Given the description of an element on the screen output the (x, y) to click on. 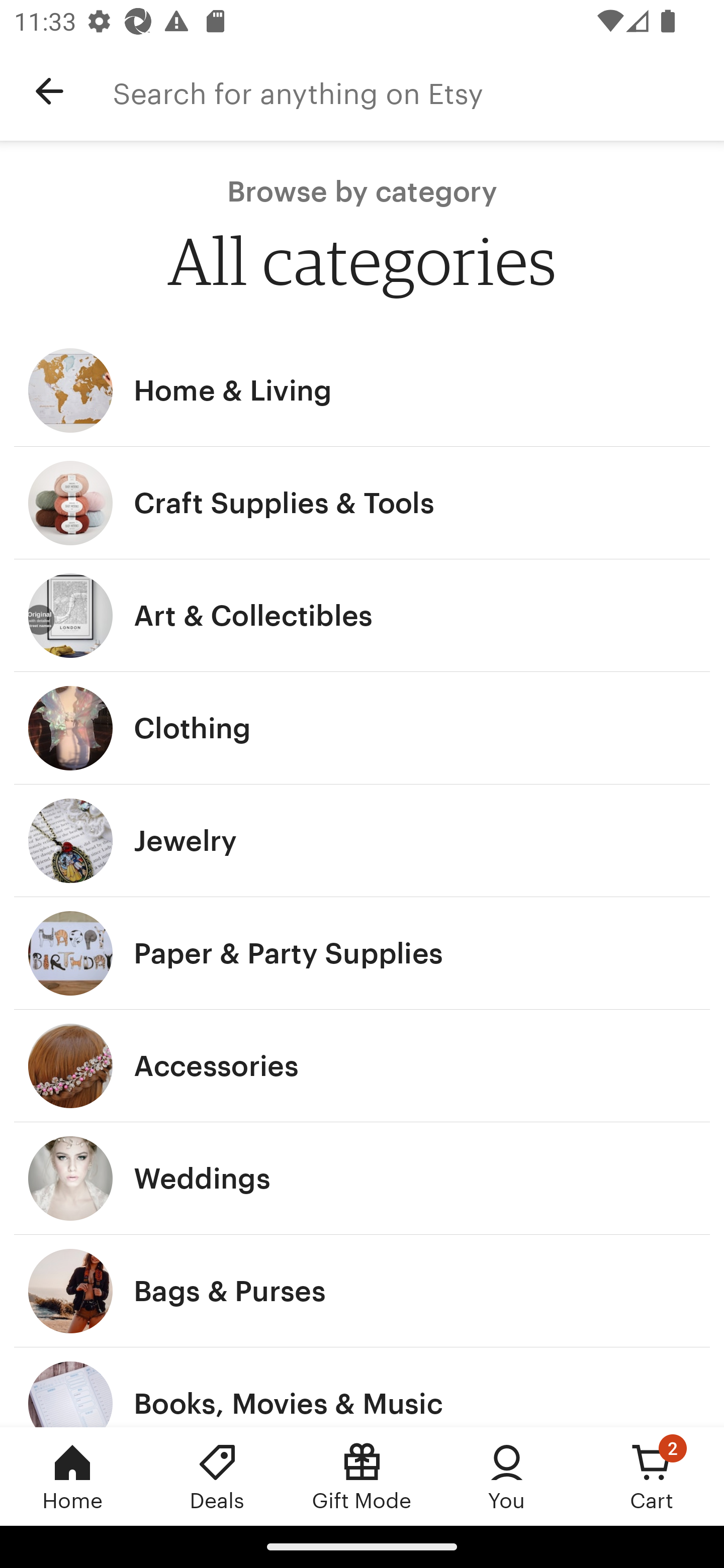
Navigate up (49, 91)
Search for anything on Etsy (418, 91)
Home & Living (361, 389)
Craft Supplies & Tools (361, 502)
Art & Collectibles (361, 615)
Clothing (361, 728)
Jewelry (361, 840)
Paper & Party Supplies (361, 952)
Accessories (361, 1065)
Weddings (361, 1178)
Bags & Purses (361, 1290)
Books, Movies & Music (361, 1386)
Deals (216, 1475)
Gift Mode (361, 1475)
You (506, 1475)
Cart, 2 new notifications Cart (651, 1475)
